Given the description of an element on the screen output the (x, y) to click on. 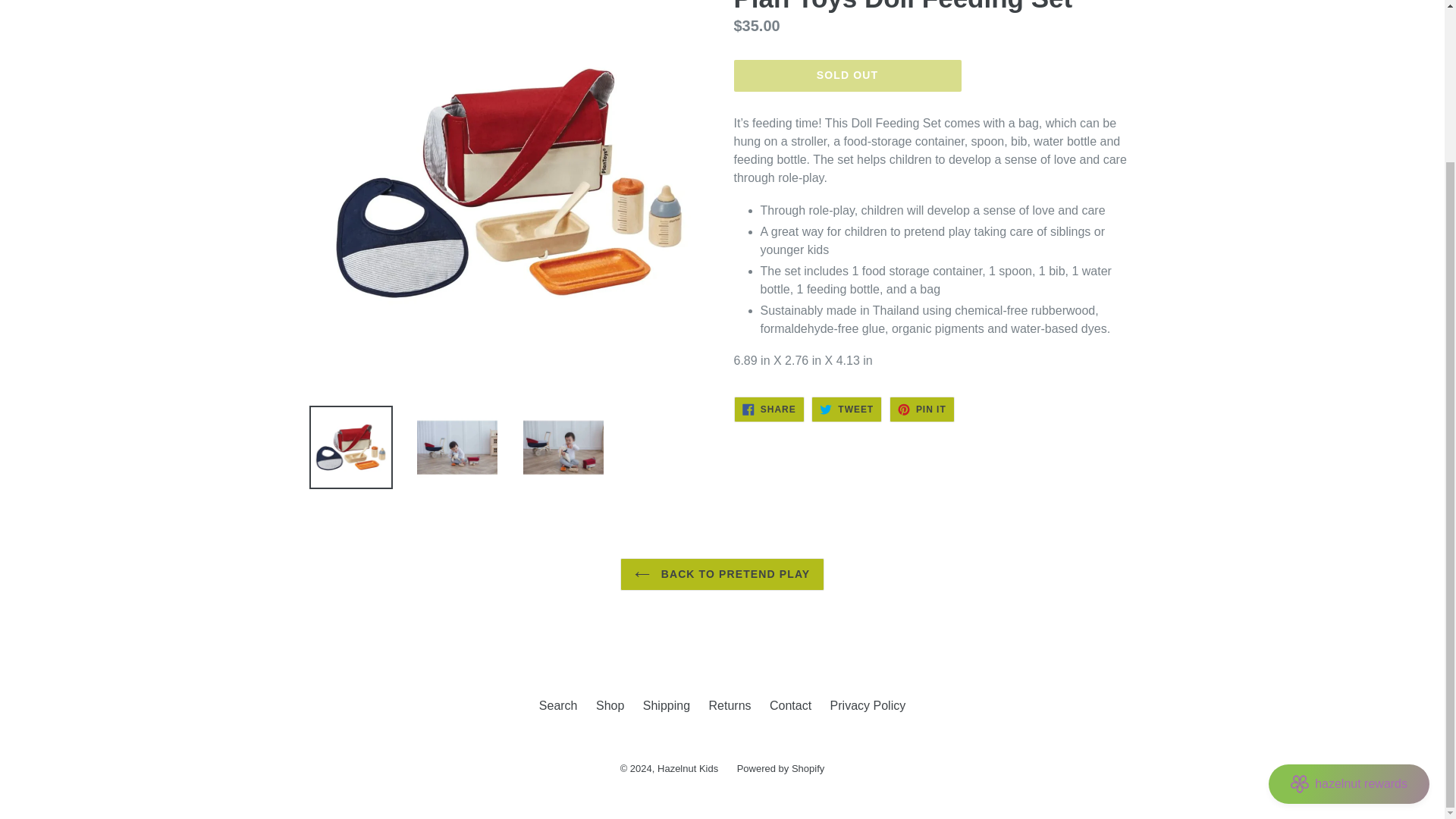
Search (558, 705)
hazelnut rewards (1348, 591)
Shop (769, 409)
Contact (609, 705)
Share on Facebook (790, 705)
SOLD OUT (769, 409)
Powered by Shopify (846, 75)
Tweet on Twitter (780, 767)
Shipping (846, 409)
Pin on Pinterest (666, 705)
Returns (922, 409)
Privacy Policy (730, 705)
Hazelnut Kids (867, 705)
